Given the description of an element on the screen output the (x, y) to click on. 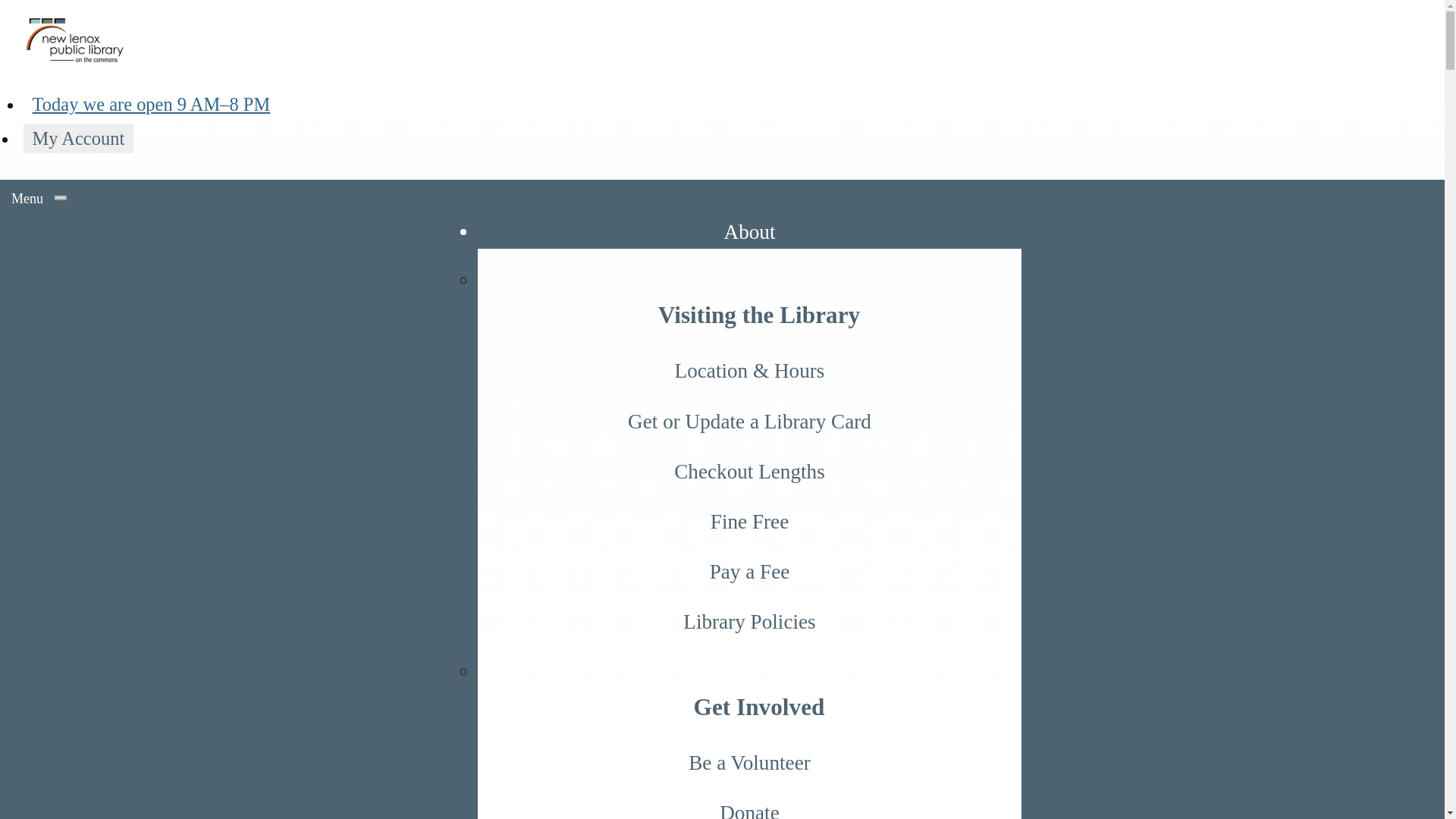
Checkout Lengths (749, 471)
Library Policies (749, 622)
My Account (78, 138)
Donate (749, 803)
About (749, 231)
Fine Free (749, 521)
Pay a Fee (749, 572)
Get or Update a Library Card (749, 421)
Be a Volunteer (749, 762)
